Given the description of an element on the screen output the (x, y) to click on. 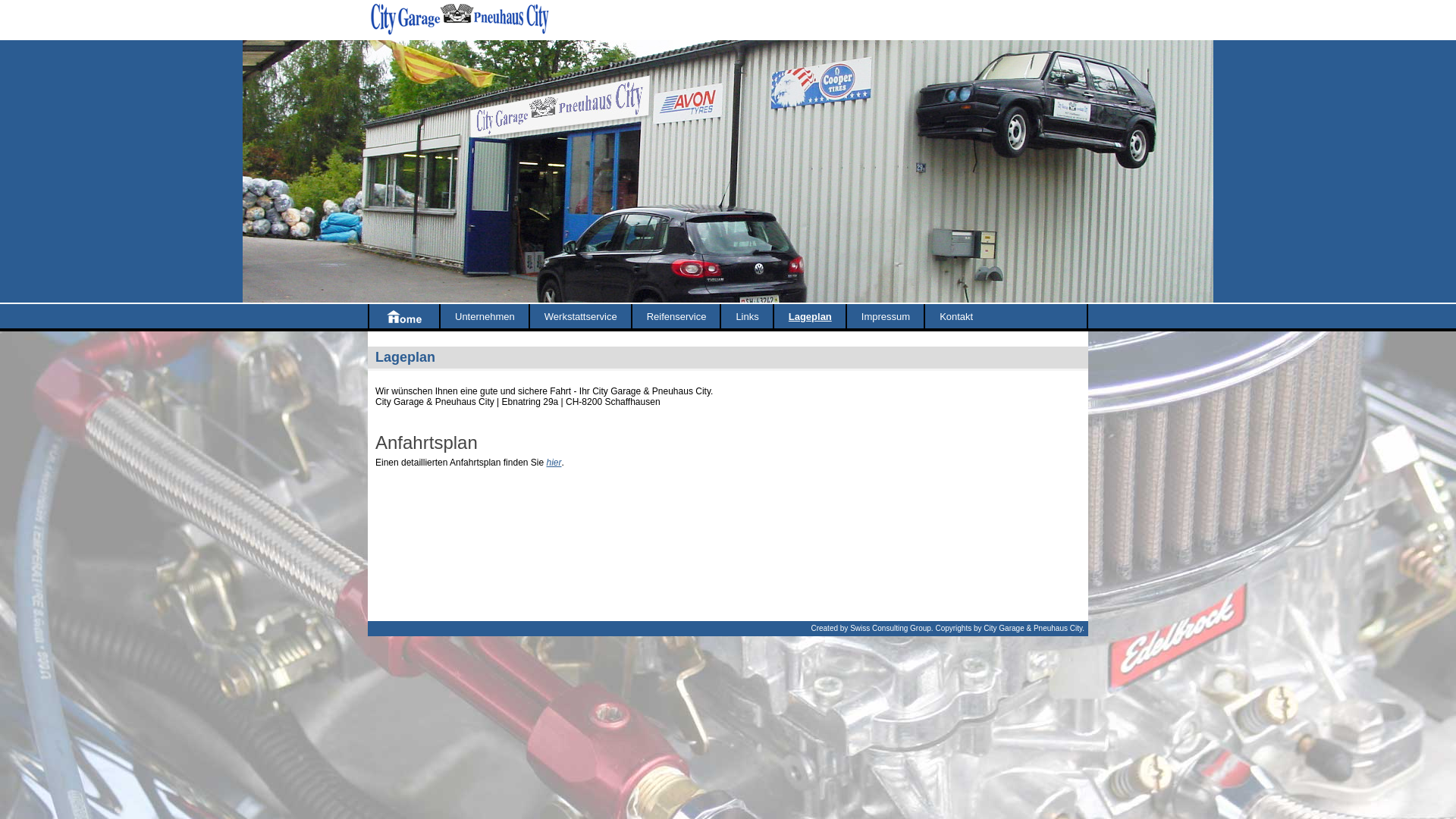
Swiss Consulting Group Element type: text (890, 628)
Werkstattservice Element type: text (580, 317)
Reifenservice Element type: text (676, 317)
Lageplan Element type: text (809, 317)
Links Element type: text (746, 317)
Impressum Element type: text (885, 317)
hier Element type: text (553, 462)
Unternehmen Element type: text (484, 317)
Kontakt Element type: text (955, 317)
Herzlich Willkommen Element type: hover (403, 316)
